Given the description of an element on the screen output the (x, y) to click on. 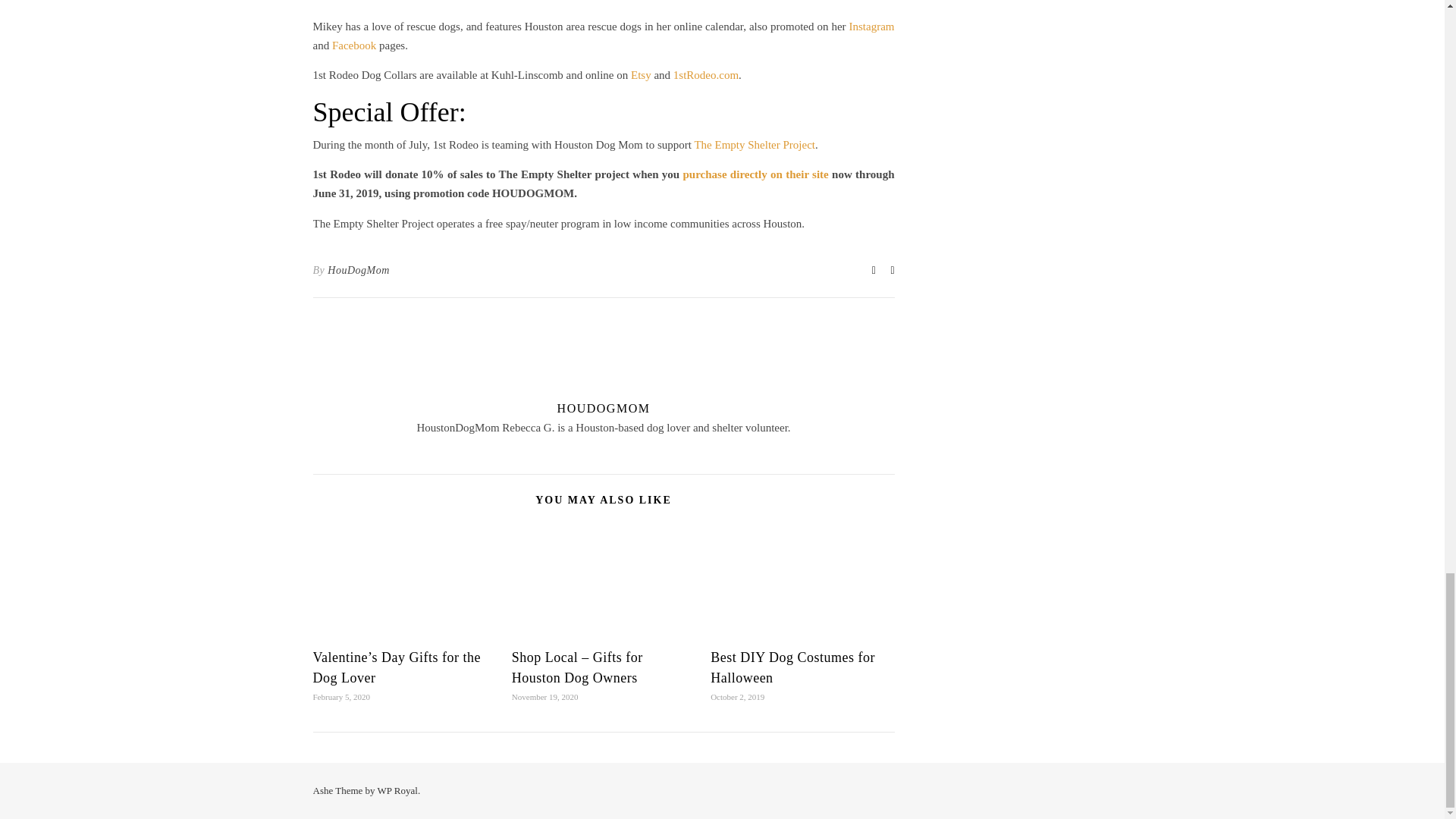
Posts by HouDogMom (603, 408)
Posts by HouDogMom (358, 270)
